Given the description of an element on the screen output the (x, y) to click on. 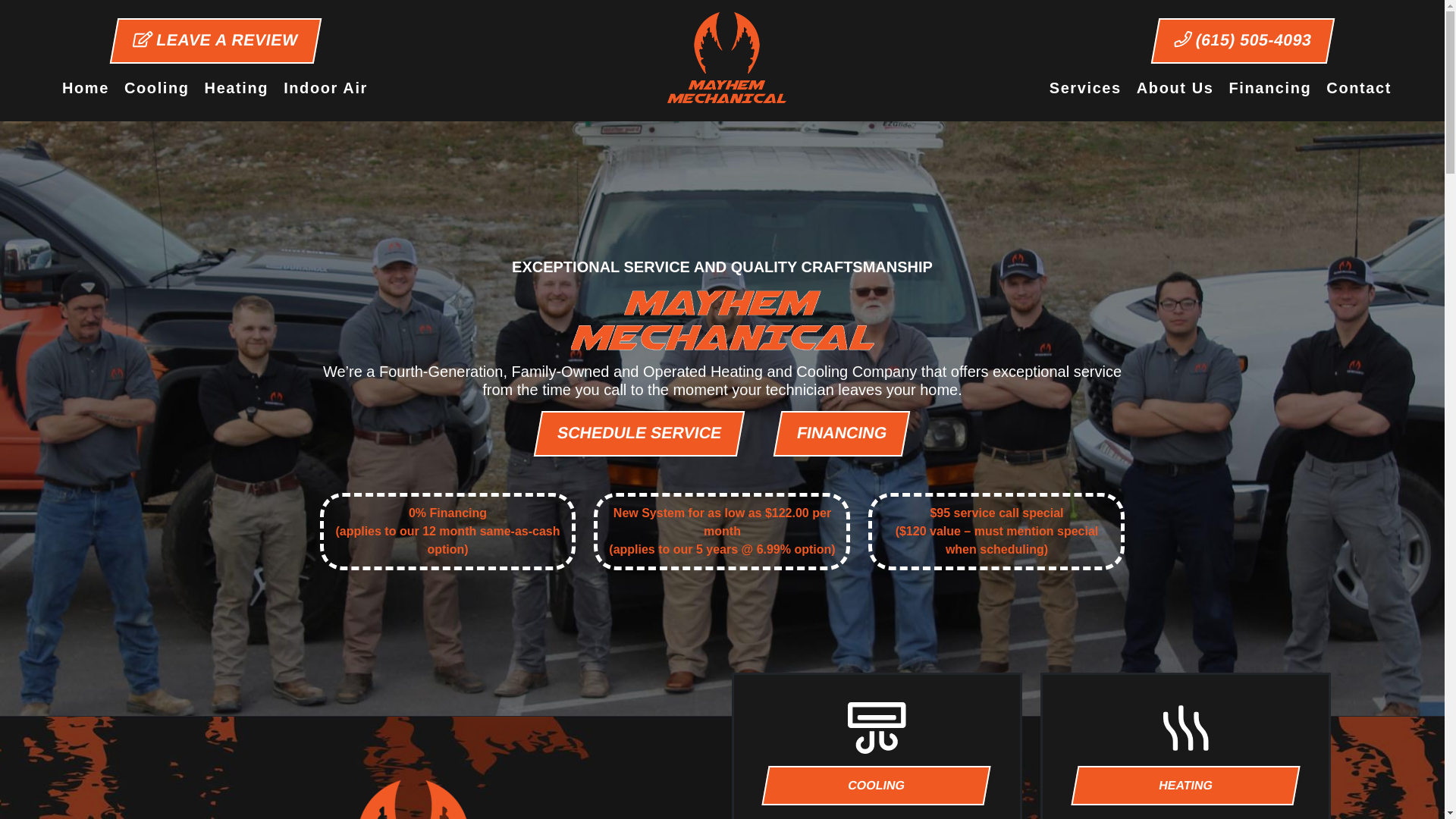
Services (1085, 87)
LEAVE A REVIEW (212, 40)
Indoor Air (325, 87)
Cooling (156, 87)
Contact (1359, 87)
Home (85, 87)
About Us (1175, 87)
Heating (236, 87)
Financing (1270, 87)
